Given the description of an element on the screen output the (x, y) to click on. 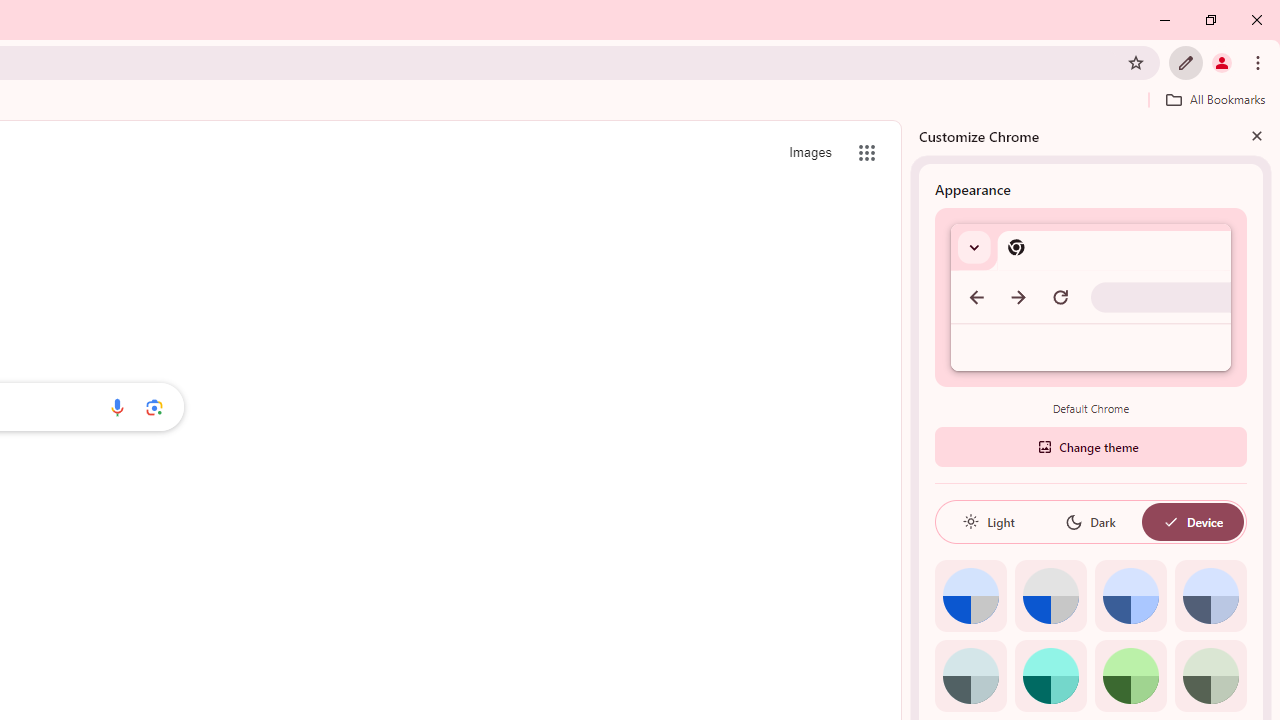
Grey default color (1050, 596)
Customize Chrome (1185, 62)
Cool grey (1210, 596)
AutomationID: baseSvg (1170, 521)
Light (988, 521)
Change theme (1090, 446)
Device (1192, 521)
Aqua (1050, 676)
Blue (1130, 596)
